Given the description of an element on the screen output the (x, y) to click on. 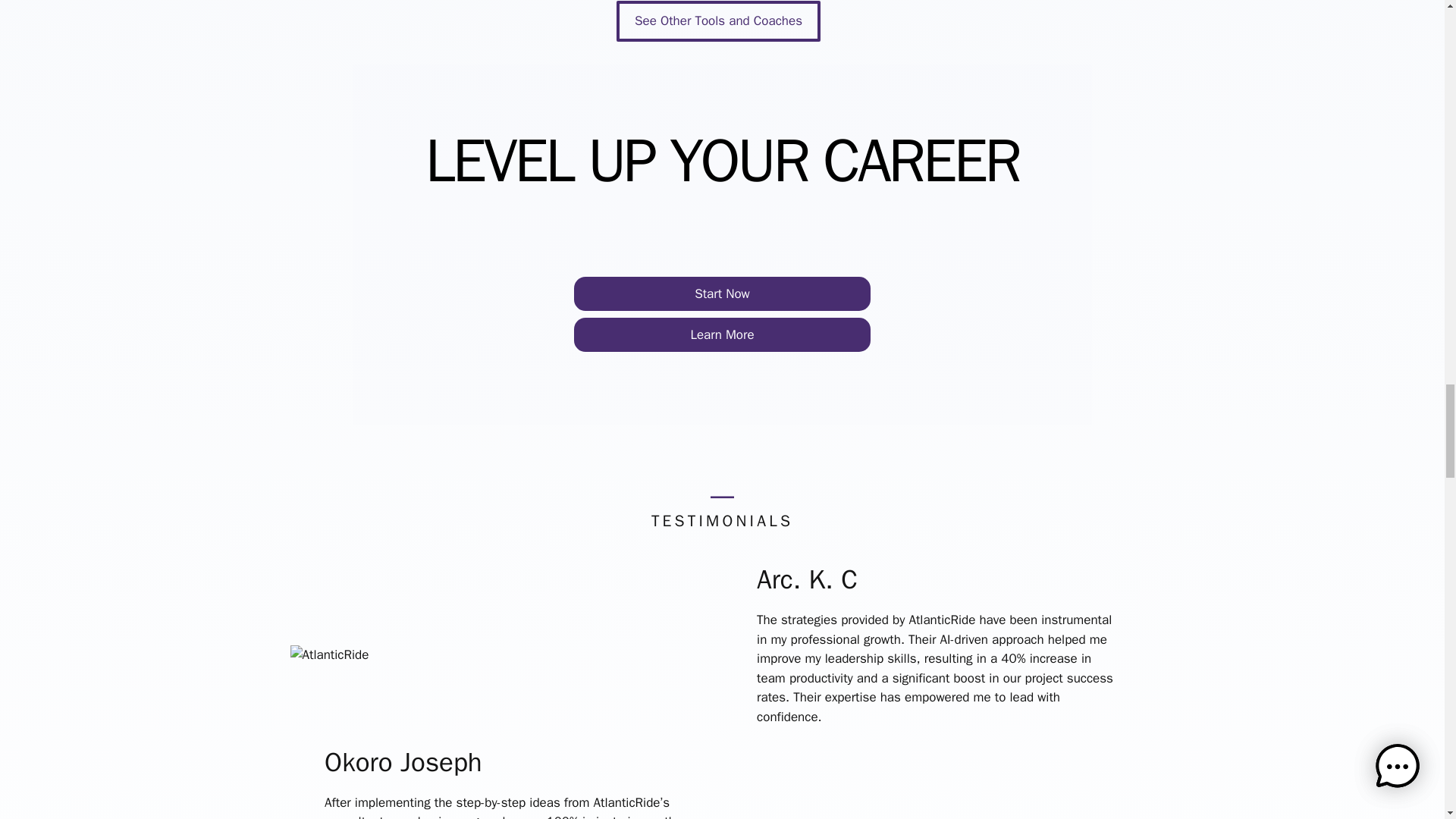
See Other Tools and Coaches (718, 20)
Home 12 (328, 655)
Learn More (721, 334)
Start Now (721, 294)
